Given the description of an element on the screen output the (x, y) to click on. 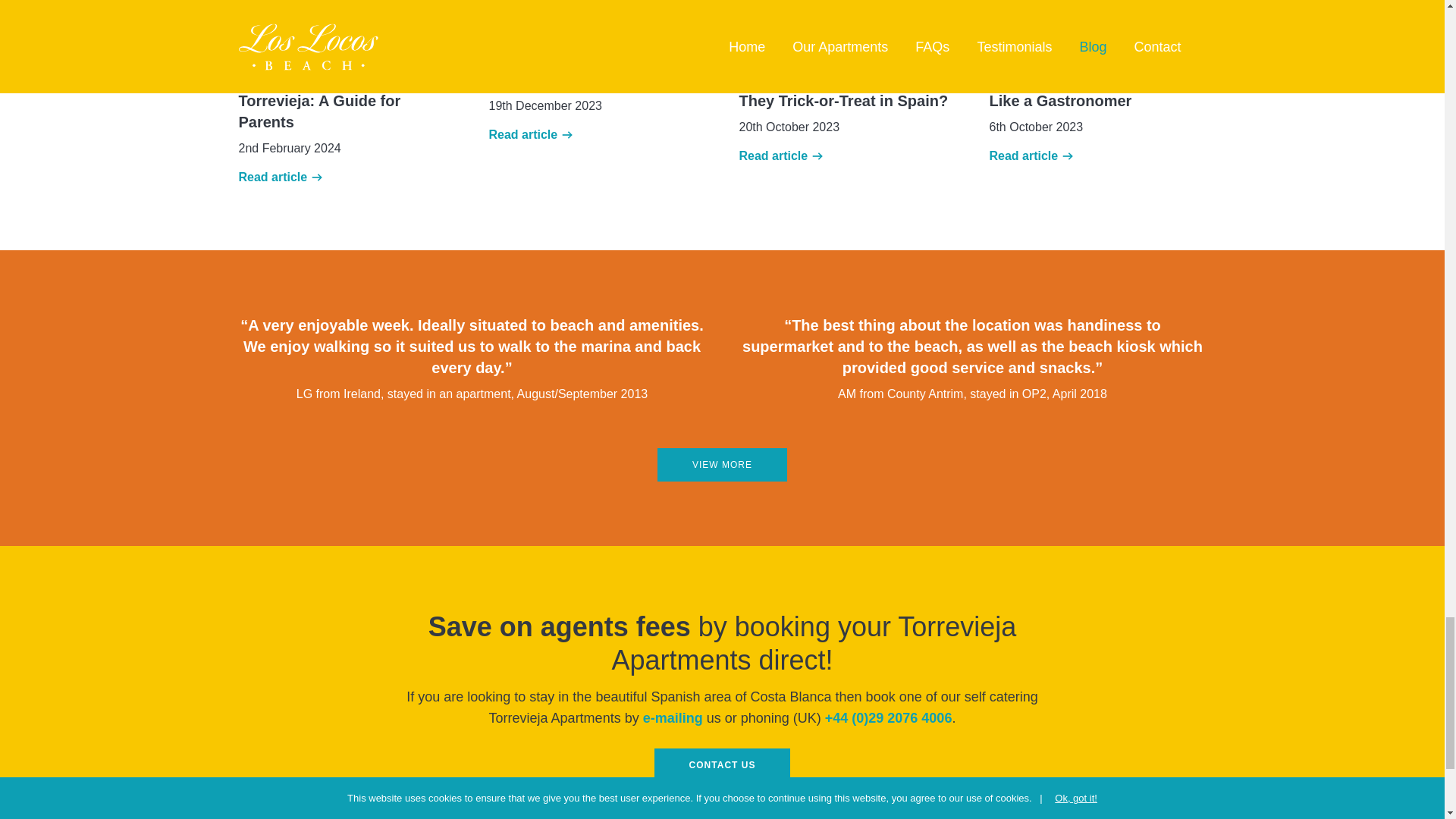
View - Torrevieja Festivals in 2024 (585, 79)
Read article (780, 156)
View - Costa Blanca Food: Explore Like a Gastronomer (1096, 22)
View - Torrevieja Festivals in 2024 (595, 22)
View - Costa Blanca Food: Explore Like a Gastronomer (1089, 89)
Torrevieja Festivals in 2024 (585, 79)
Read article (279, 176)
